Given the description of an element on the screen output the (x, y) to click on. 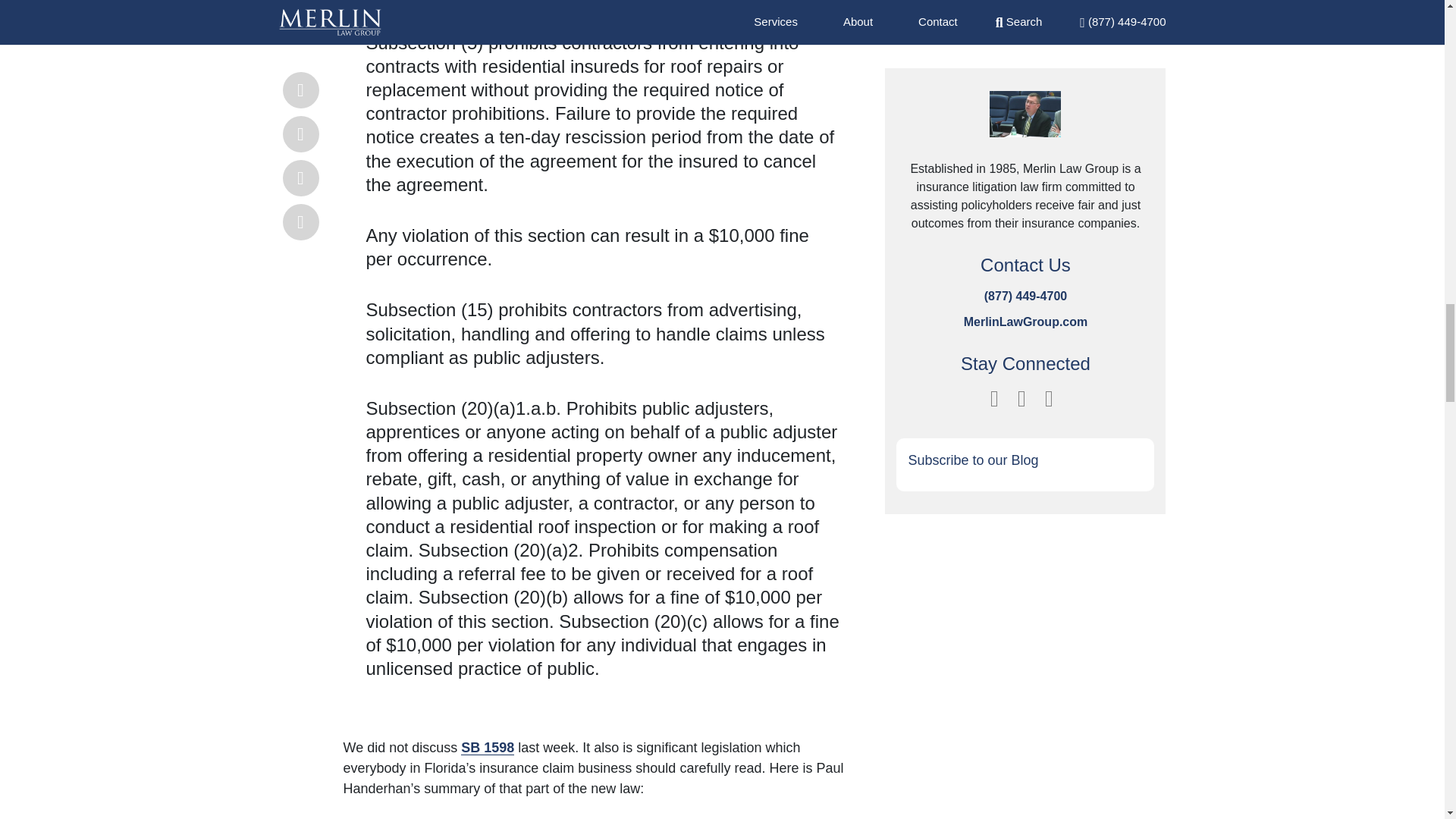
SB 1598 (487, 747)
